Given the description of an element on the screen output the (x, y) to click on. 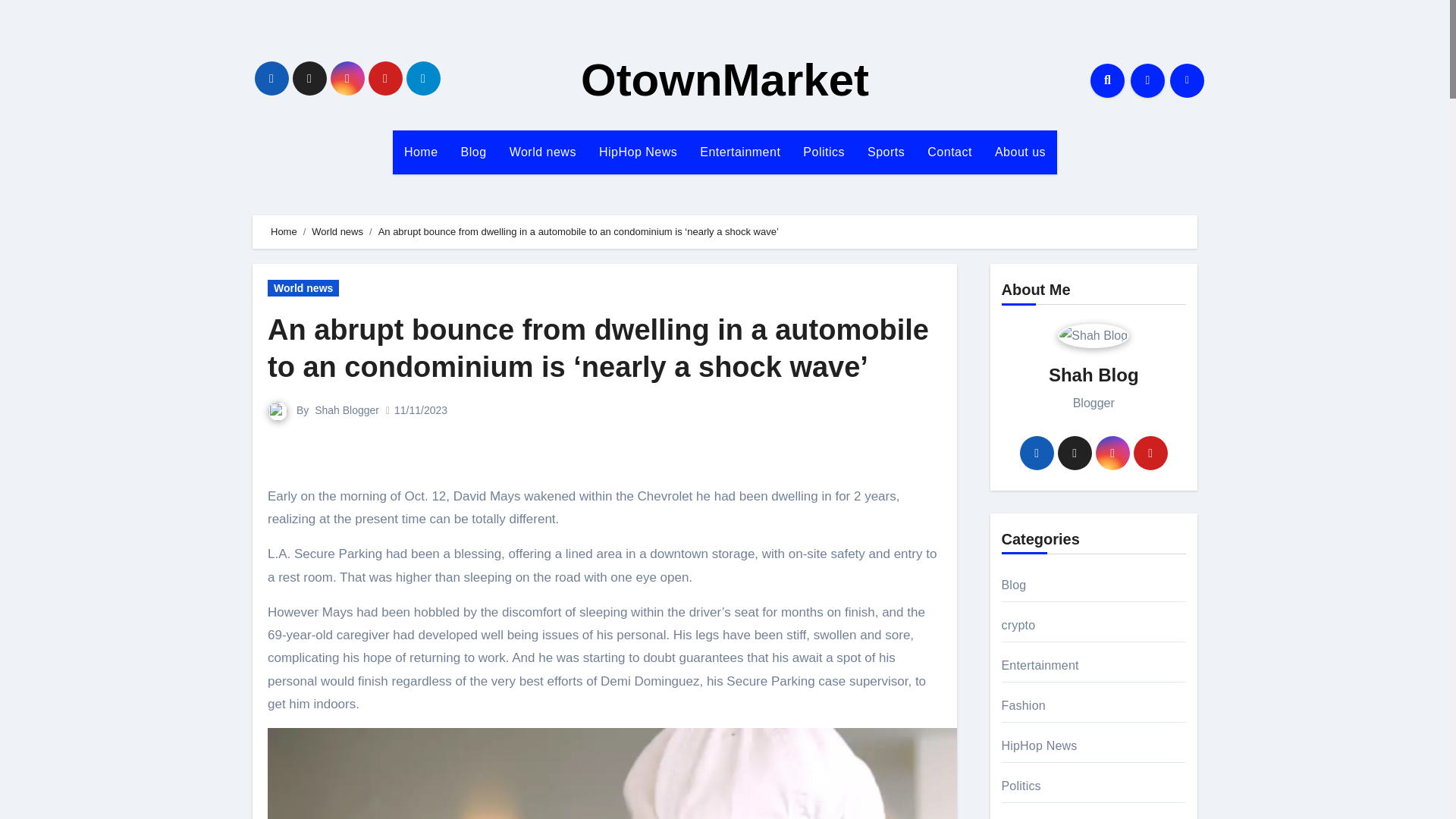
About us (1020, 152)
HipHop News (638, 152)
About us (1020, 152)
Blog (473, 152)
Politics (824, 152)
Home (421, 152)
Blog (473, 152)
Contact (949, 152)
Entertainment (740, 152)
World news (542, 152)
Sports (885, 152)
Sports (885, 152)
World news (303, 288)
Home (283, 231)
Contact (949, 152)
